Given the description of an element on the screen output the (x, y) to click on. 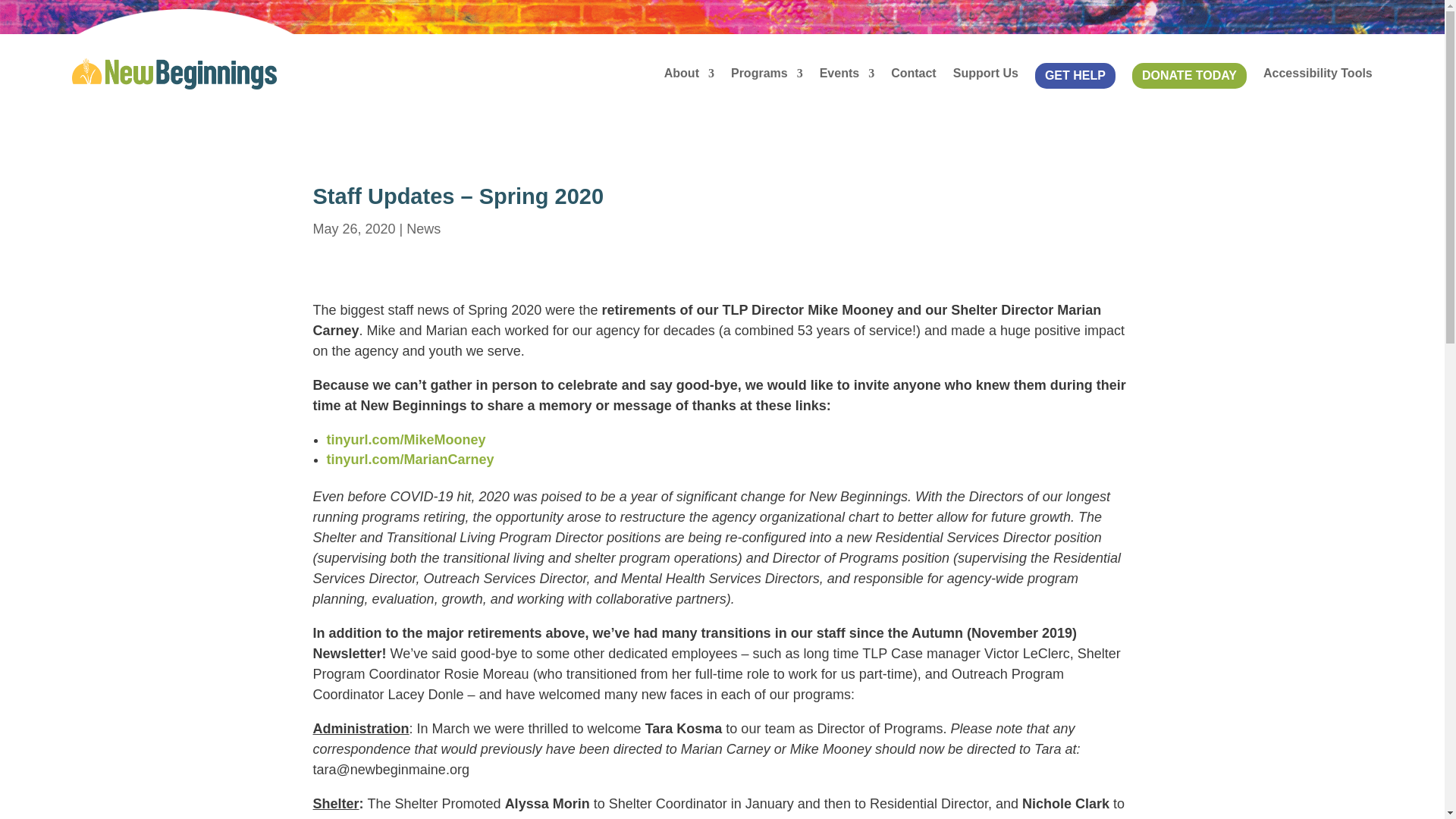
Accessibility Tools (1318, 74)
DONATE TODAY (1189, 74)
GET HELP (1075, 74)
Support Us (985, 74)
Programs (766, 74)
Contact (913, 74)
ellipse-top-2 (185, 22)
Events (847, 74)
About (688, 74)
